Given the description of an element on the screen output the (x, y) to click on. 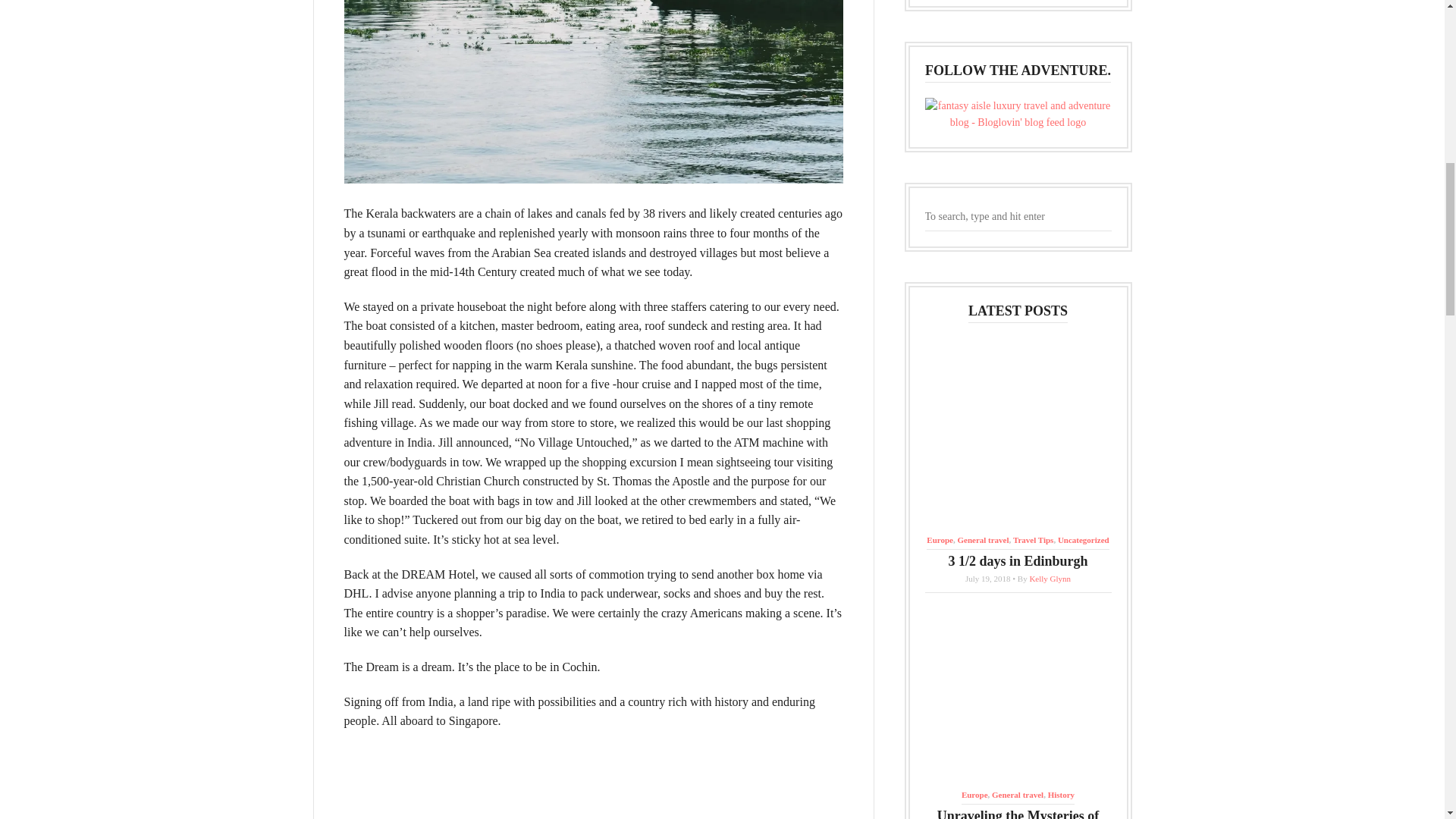
Posts by Kelly Glynn (1049, 578)
